Given the description of an element on the screen output the (x, y) to click on. 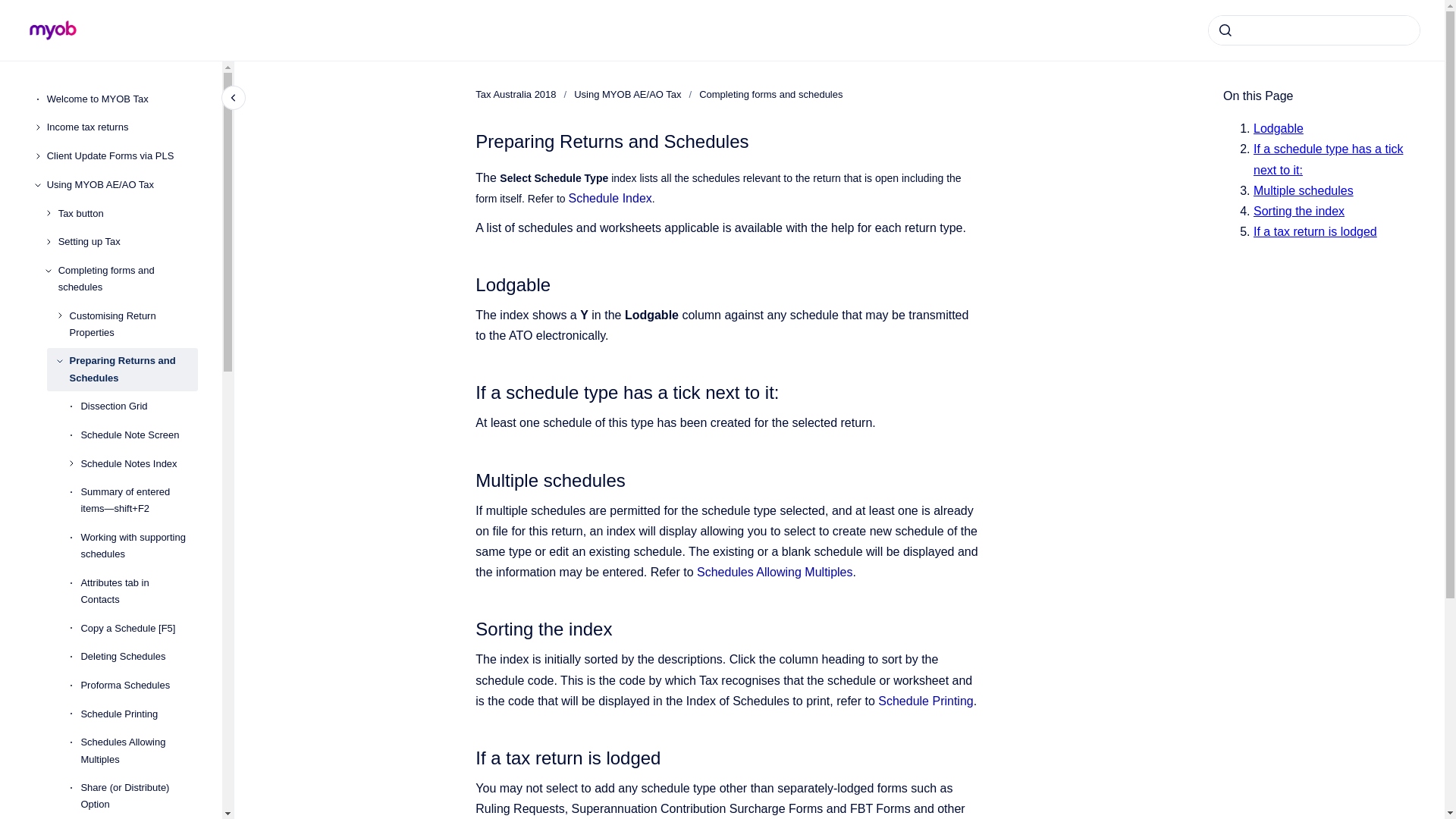
Setting up Tax (128, 241)
Income tax returns (122, 127)
Client Update Forms via PLS (122, 155)
Schedule Note Screen (139, 434)
Schedule Notes Index (139, 463)
Proforma Schedules (139, 685)
Deleting Schedules (139, 656)
Tax button (128, 213)
Attributes tab in Contacts (139, 591)
Preparing Returns and Schedules (133, 370)
